Given the description of an element on the screen output the (x, y) to click on. 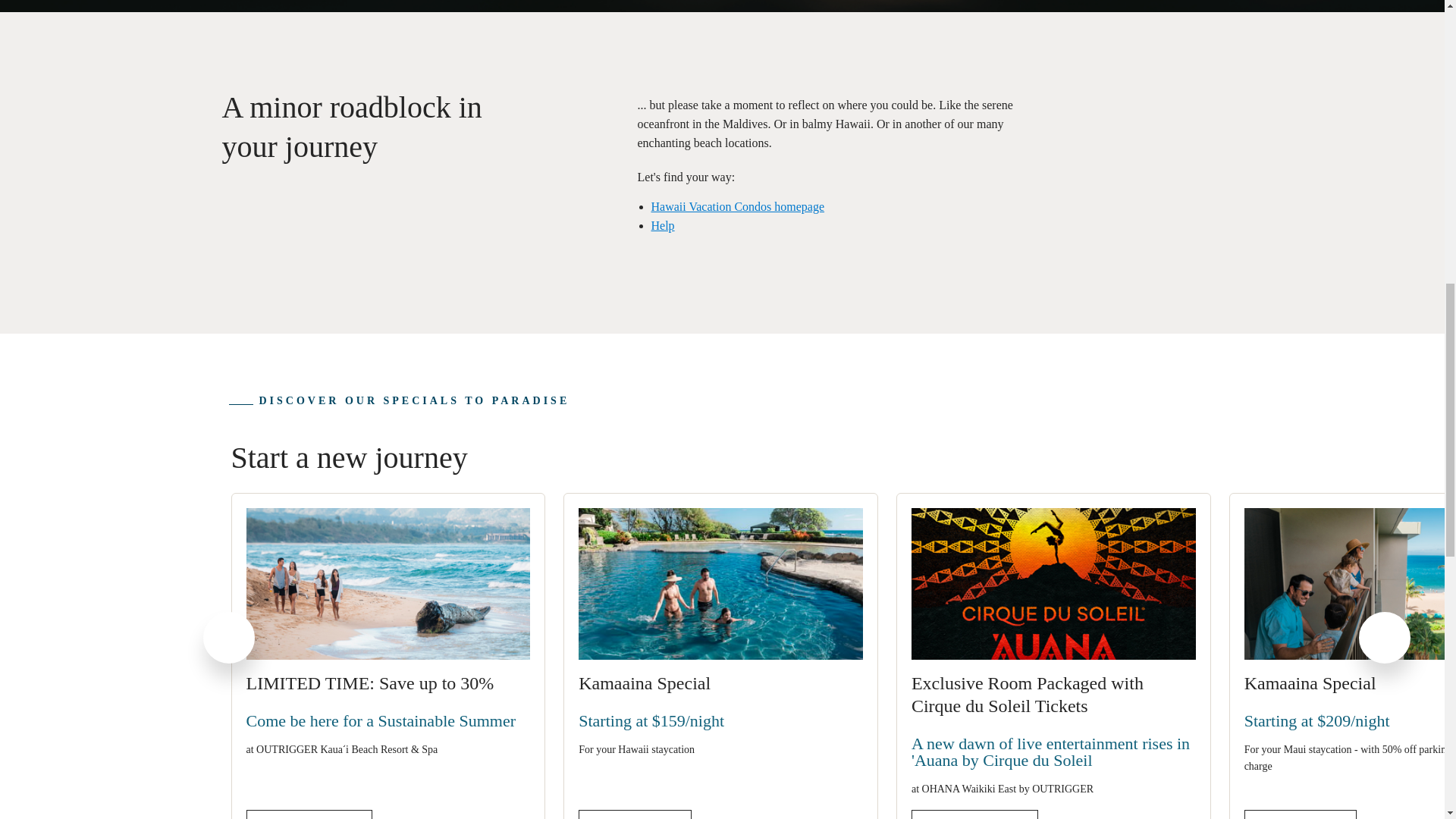
Catch the wave (634, 814)
Check availability (974, 814)
Catch the wave (1300, 814)
Help (662, 225)
Hawaii Vacation Condos homepage (737, 205)
Kamaaina Special (720, 682)
Exclusive Room Packaged with Cirque du Soleil Tickets (1053, 694)
Check availability (309, 814)
